Given the description of an element on the screen output the (x, y) to click on. 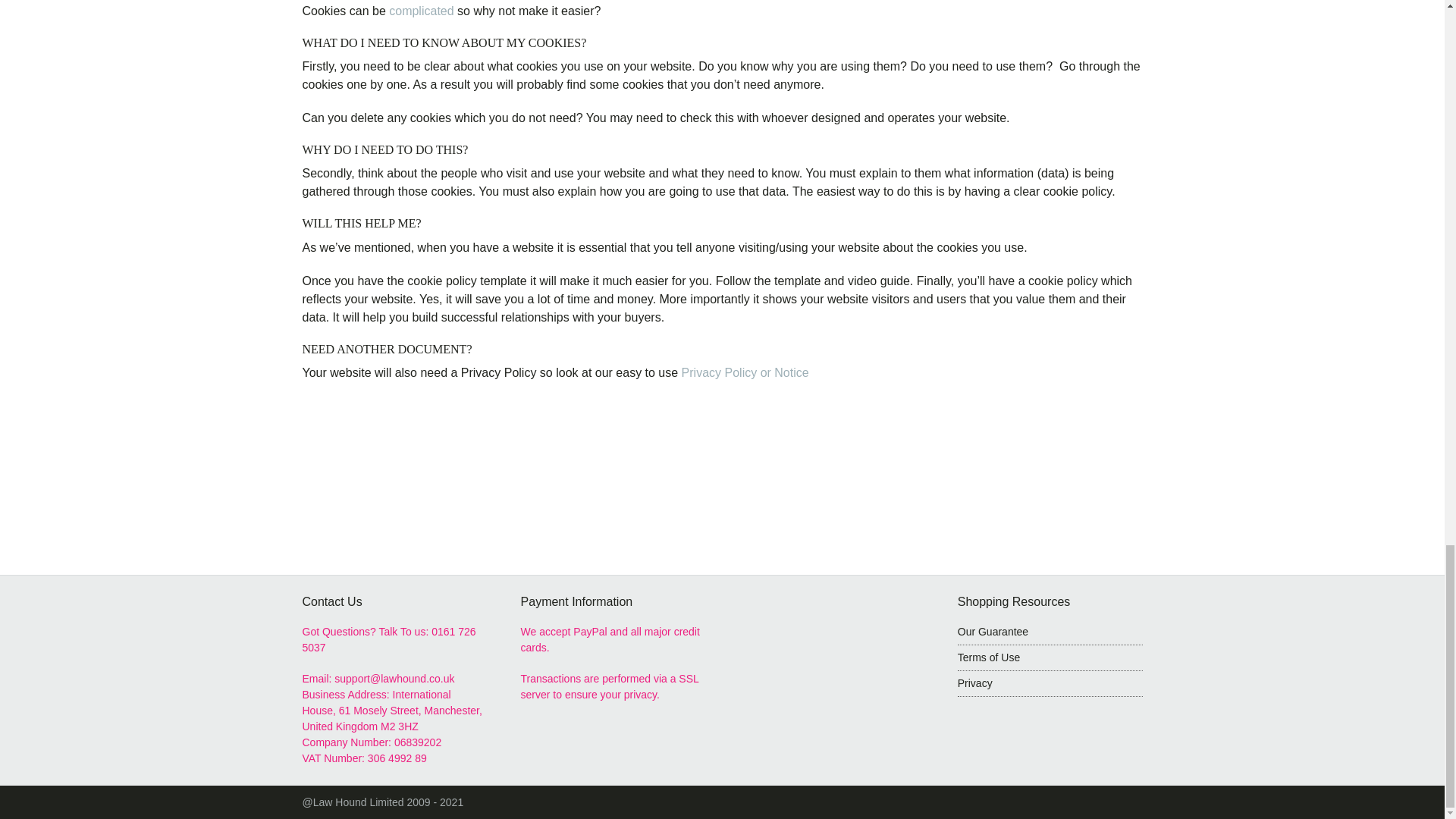
Terms of Use (1050, 658)
Privacy Policy or Notice   (748, 372)
Privacy (1050, 684)
complicated (419, 10)
Our Guarantee (992, 631)
